Given the description of an element on the screen output the (x, y) to click on. 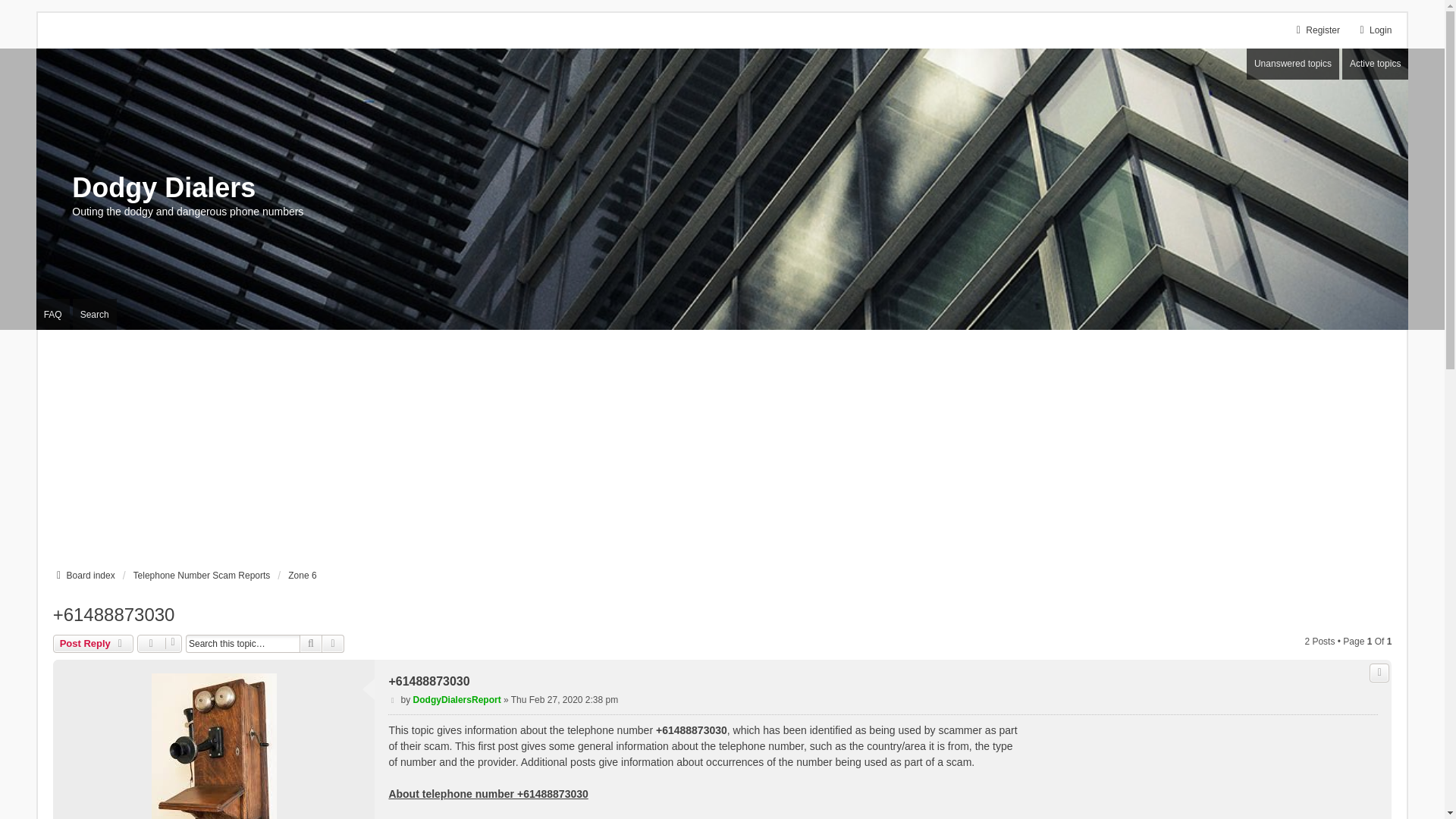
Post a reply (92, 643)
Quote (1379, 672)
Register (1315, 29)
Advanced search (332, 643)
Search (310, 643)
Board index (83, 575)
Login (1373, 29)
Zone 6 (301, 575)
Post Reply (92, 643)
Topic tools (159, 643)
Telephone Number Scam Reports (201, 575)
Active topics (1374, 63)
Unanswered topics (1292, 63)
Frequently Asked Questions (52, 314)
